Given the description of an element on the screen output the (x, y) to click on. 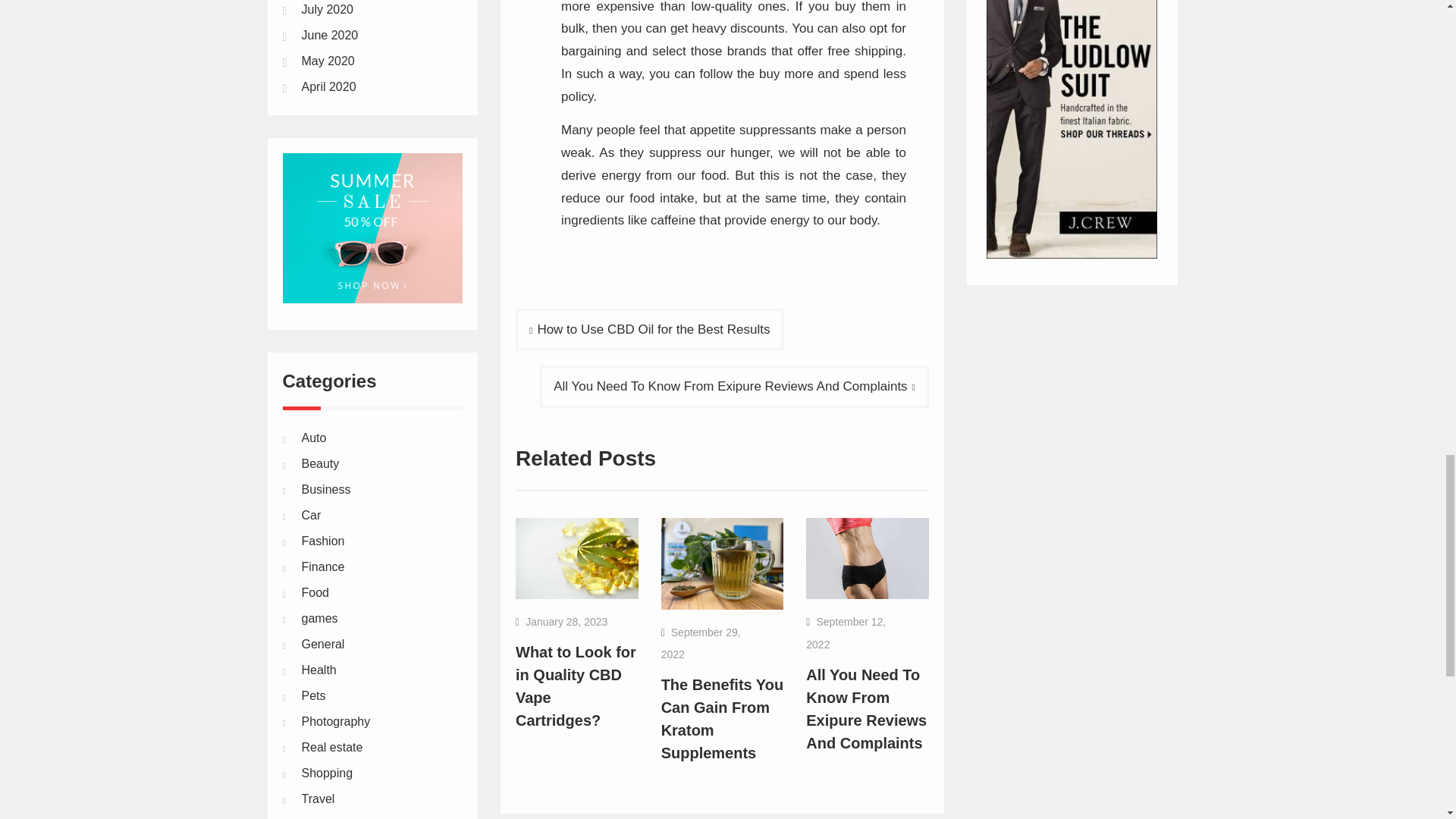
All You Need To Know From Exipure Reviews And Complaints (866, 708)
The Benefits You Can Gain From Kratom Supplements (722, 718)
How to Use CBD Oil for the Best Results (649, 328)
What to Look for in Quality CBD Vape Cartridges? (575, 685)
All You Need To Know From Exipure Reviews And Complaints (734, 386)
